Given the description of an element on the screen output the (x, y) to click on. 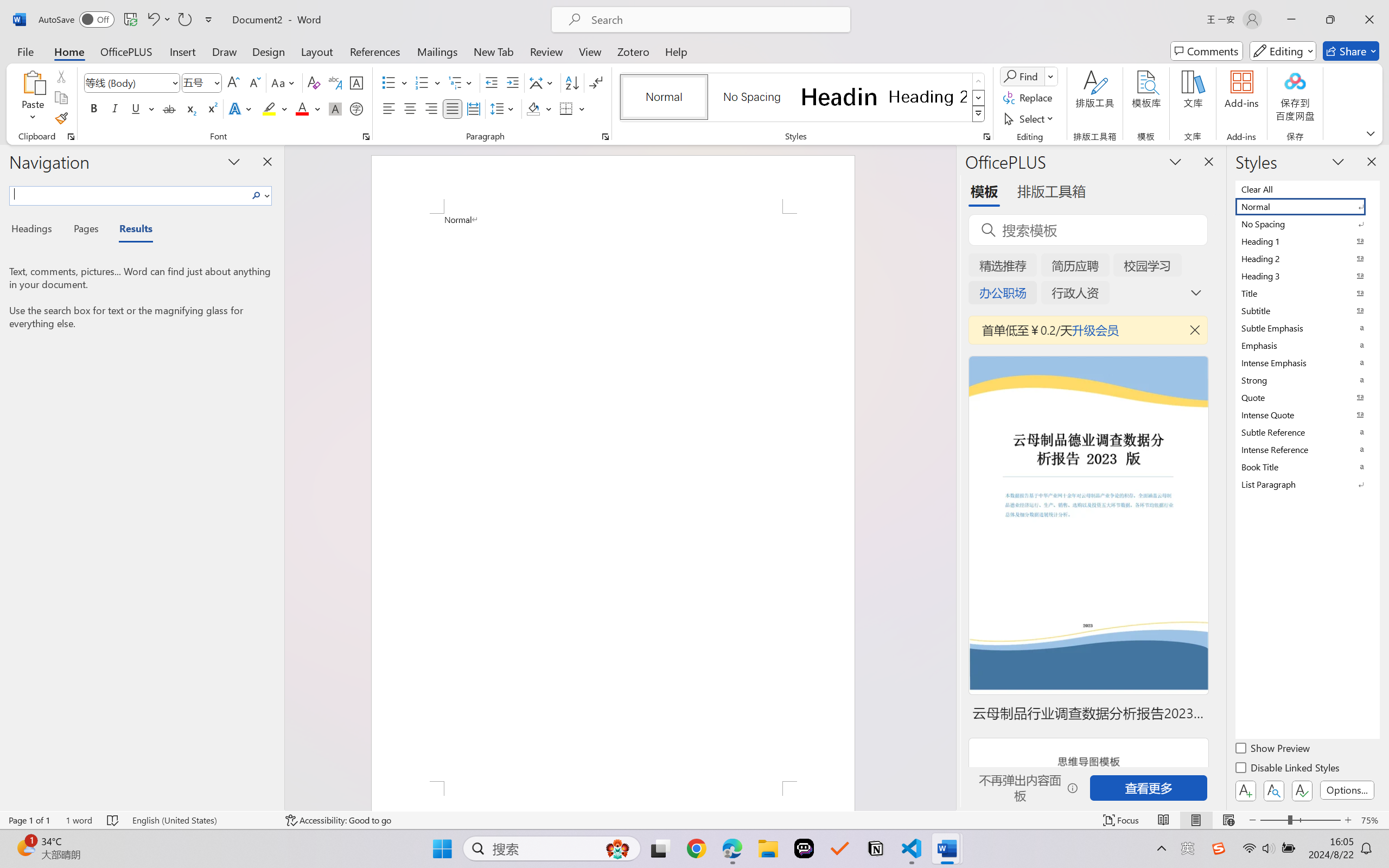
AutomationID: BadgeAnchorLargeTicker (24, 847)
Superscript (210, 108)
Show/Hide Editing Marks (595, 82)
Distributed (473, 108)
Align Left (388, 108)
Center (409, 108)
Word Count 1 word (78, 819)
Multilevel List (461, 82)
Close (1369, 19)
Paragraph... (605, 136)
Row up (978, 81)
Subtitle (1306, 310)
Accessibility Checker Accessibility: Good to go (338, 819)
